Given the description of an element on the screen output the (x, y) to click on. 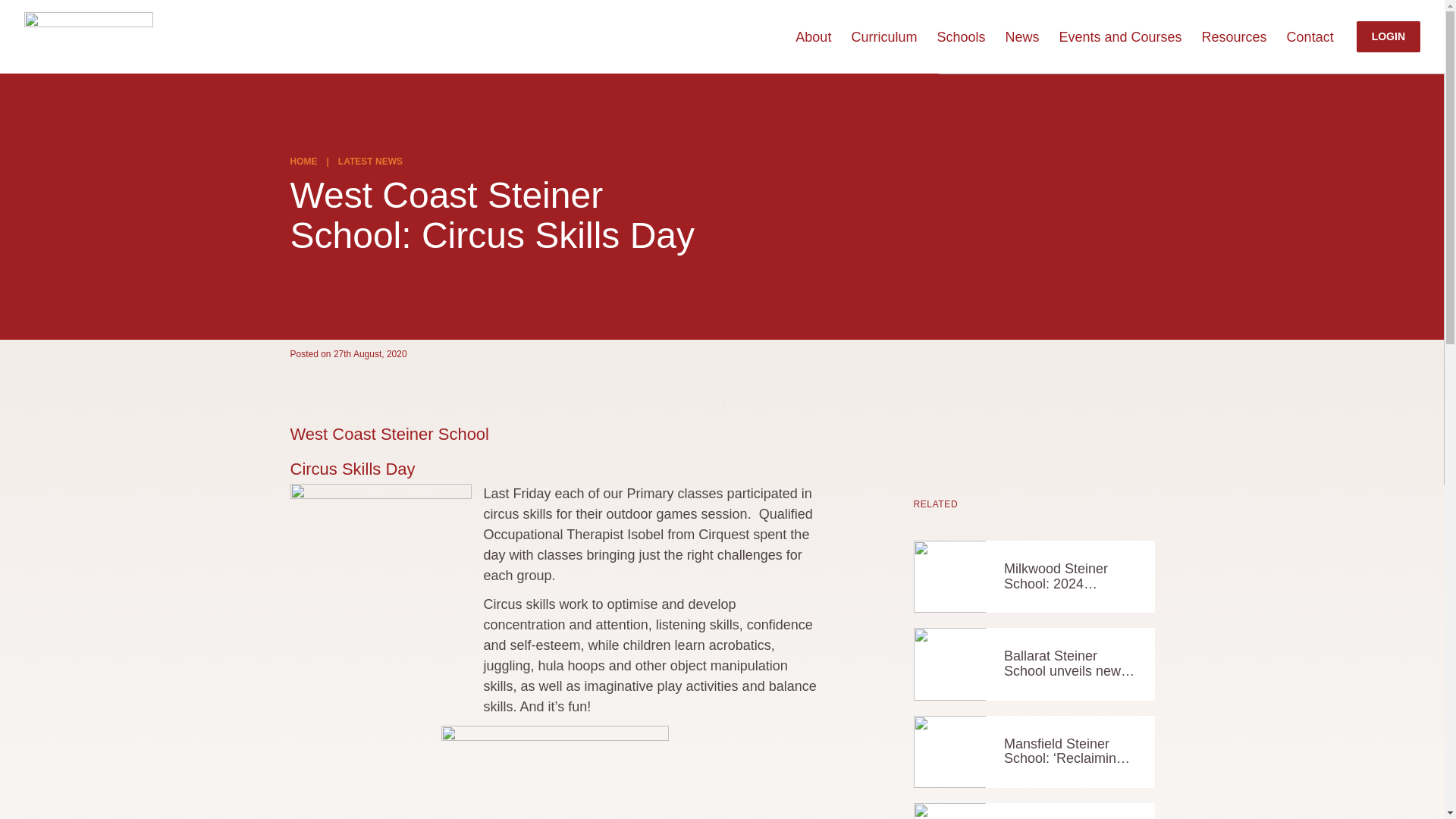
Contact (1310, 36)
Curriculum (883, 36)
News (1021, 36)
Events and Courses (1119, 36)
Schools (960, 36)
About (812, 36)
Resources (1234, 36)
